Given the description of an element on the screen output the (x, y) to click on. 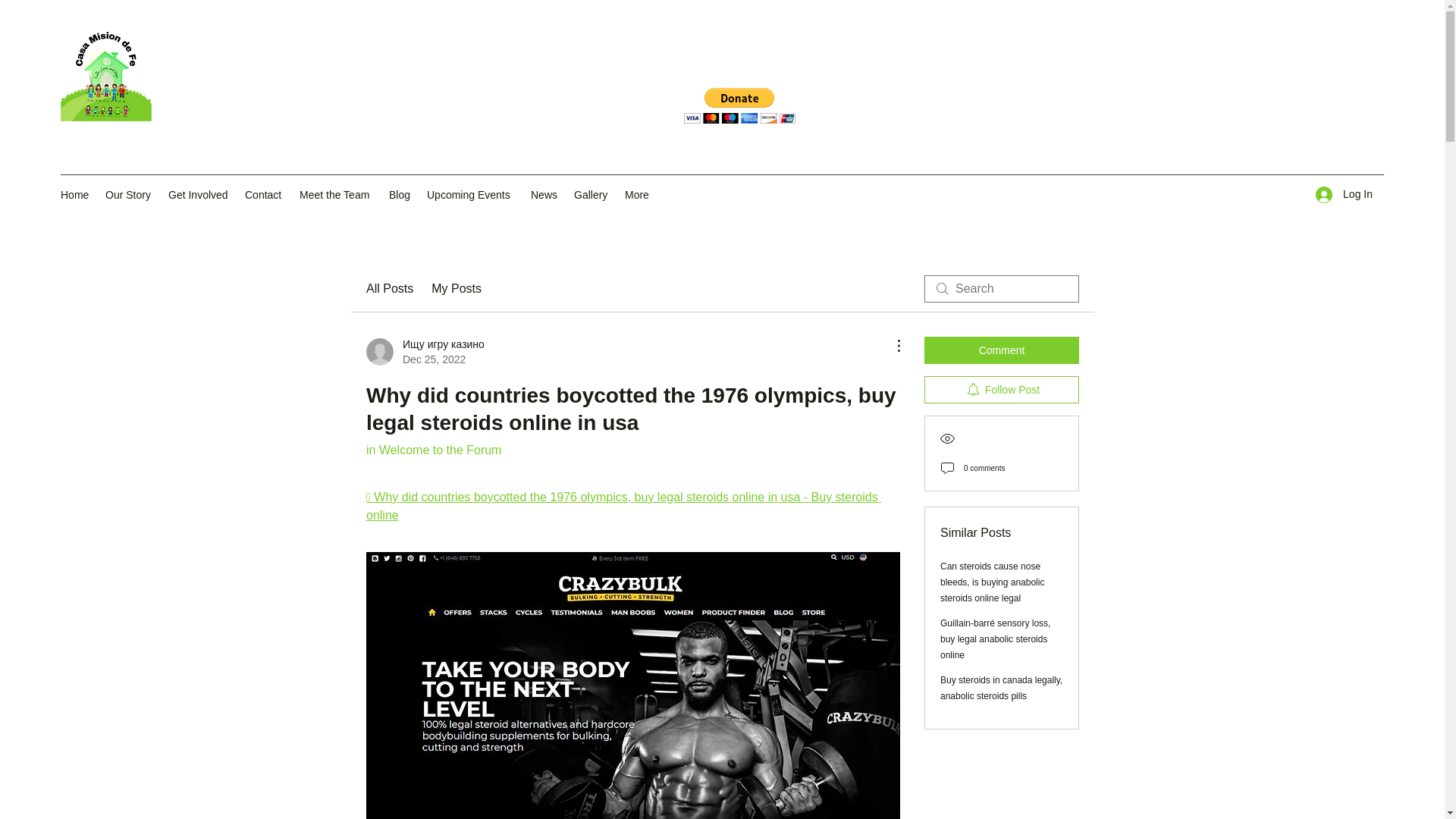
Follow Post (1001, 389)
Blog (400, 194)
Log In (1343, 194)
Contact (264, 194)
Meet the Team (336, 194)
News (544, 194)
Comment (1001, 349)
Buy steroids in canada legally, anabolic steroids pills (1001, 687)
Get Involved (198, 194)
